Given the description of an element on the screen output the (x, y) to click on. 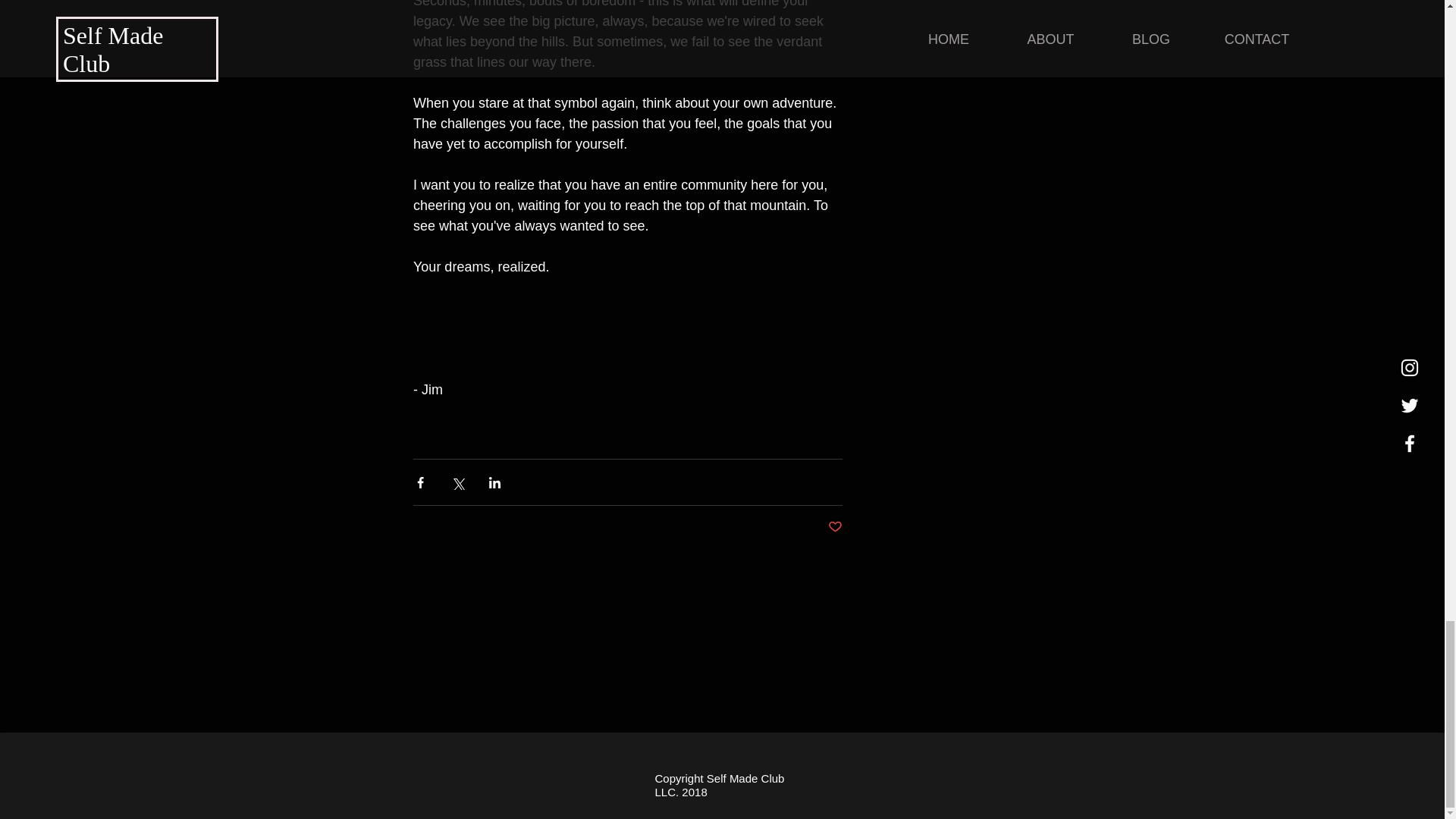
Post not marked as liked (835, 527)
